Given the description of an element on the screen output the (x, y) to click on. 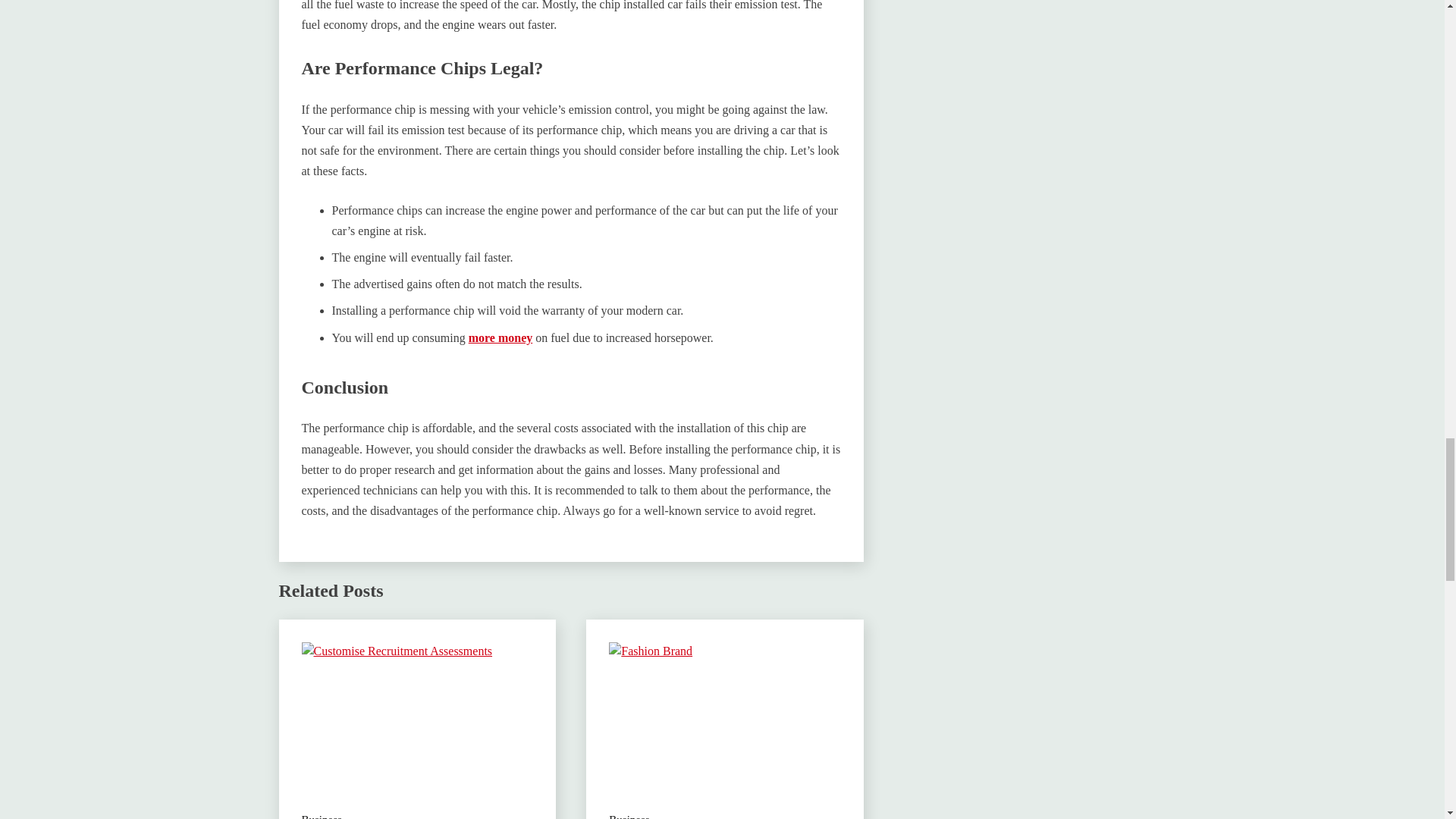
more money (500, 337)
Business (321, 815)
